Given the description of an element on the screen output the (x, y) to click on. 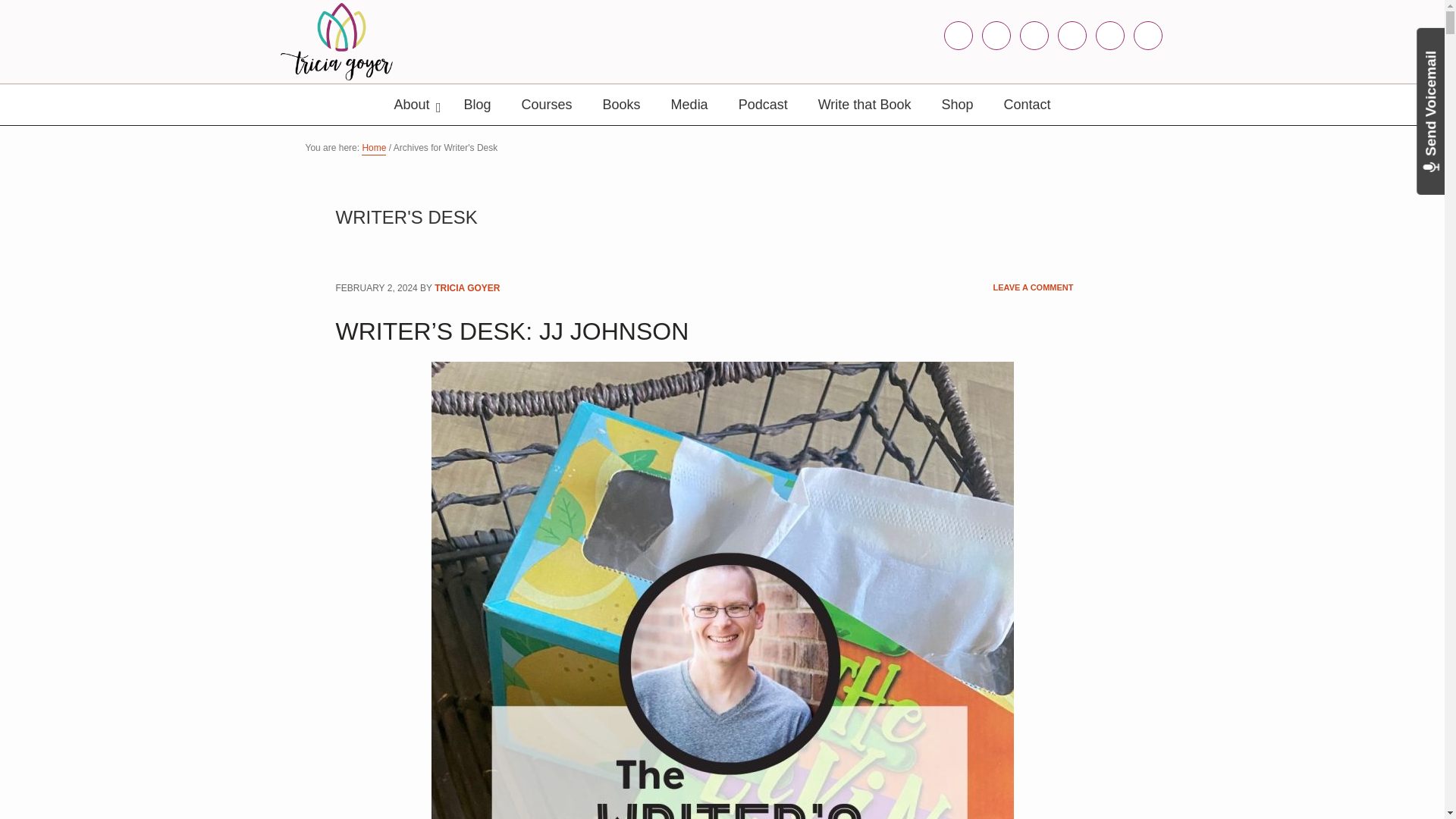
Podcast (763, 105)
Books (622, 105)
Write that Book (864, 105)
Shop (957, 105)
LEAVE A COMMENT (1033, 288)
About (413, 105)
Contact (1026, 105)
Media (689, 105)
Blog (477, 105)
